Given the description of an element on the screen output the (x, y) to click on. 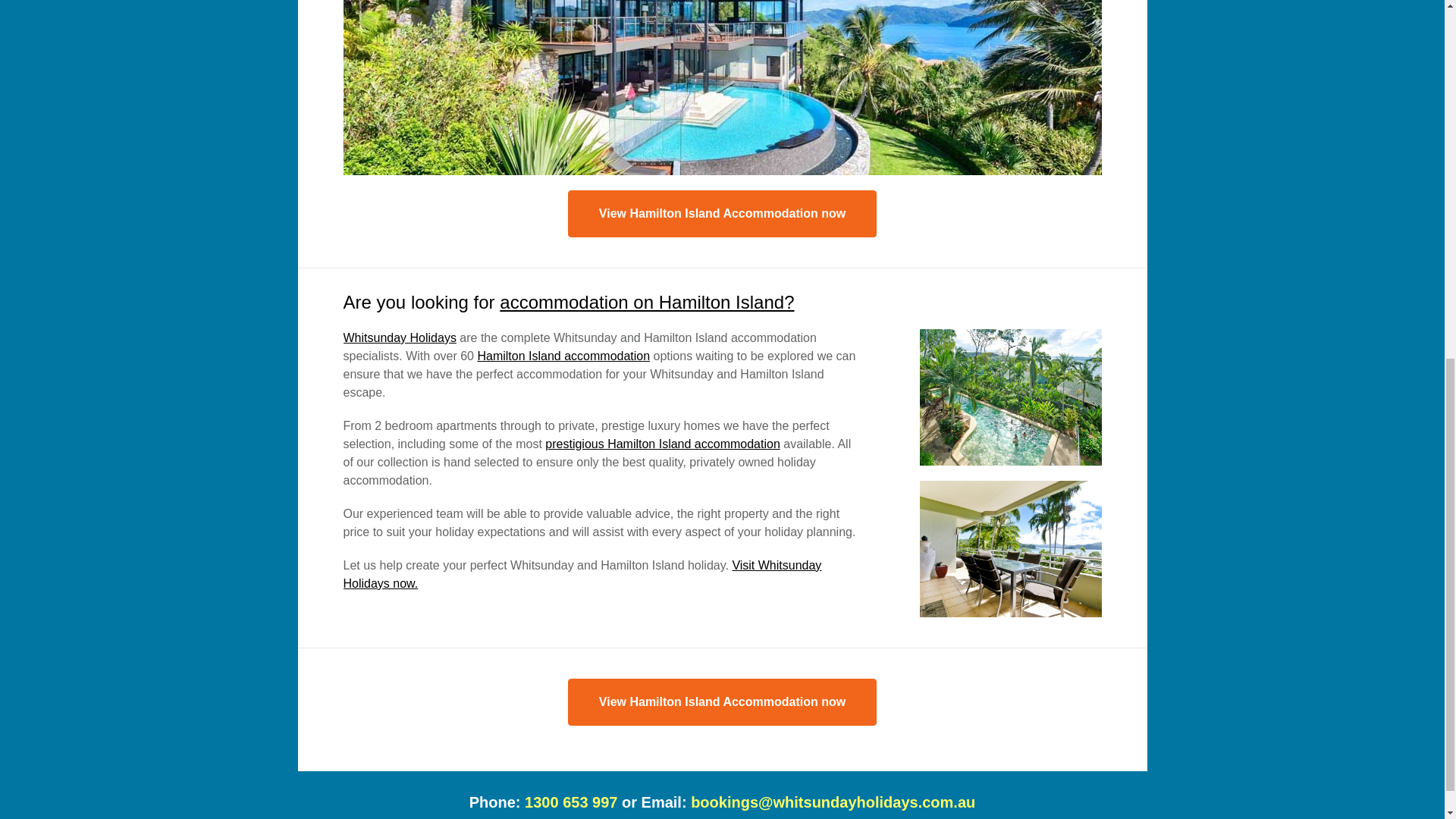
View Hamilton Island Accommodation now (721, 213)
prestigious Hamilton Island accommodation (661, 443)
1300 653 997 (570, 801)
Visit Whitsunday Holidays now. (581, 573)
Whitsunday Holidays (398, 337)
accommodation on Hamilton Island? (646, 301)
Hamilton Island accommodation (563, 355)
View Hamilton Island Accommodation now (721, 701)
